Given the description of an element on the screen output the (x, y) to click on. 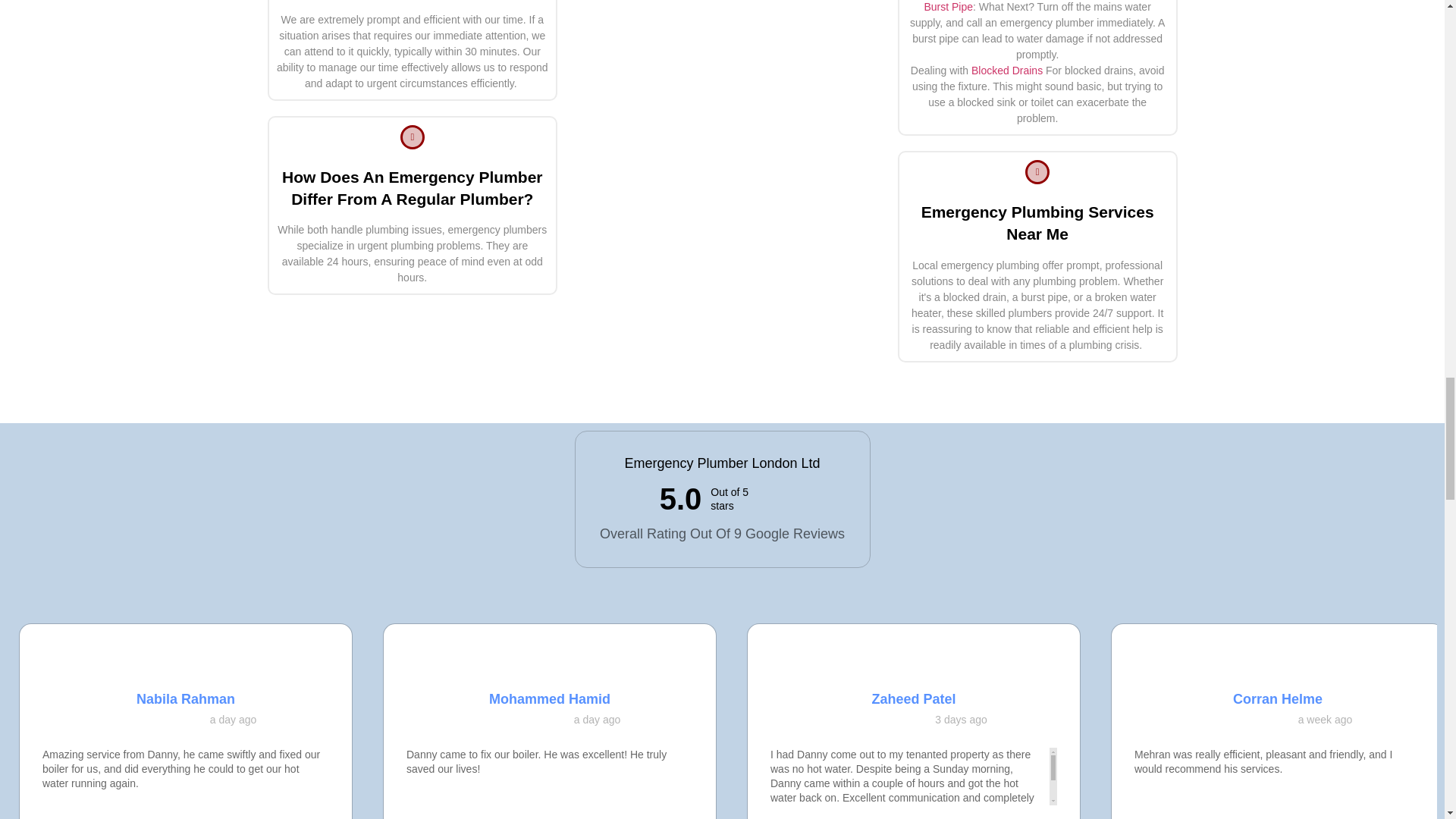
Home-new 3 (122, 719)
Home-new 3 (159, 719)
Home-new 3 (523, 719)
Home-new 15 (550, 664)
Home-new 3 (542, 719)
Home-new 8 (186, 664)
Home-new 3 (178, 719)
Home-new 9 (321, 653)
Home-new 3 (140, 719)
Home-new 3 (197, 719)
Home-new 2 (727, 132)
Home-new 3 (486, 719)
Home-new 9 (685, 653)
Home-new 3 (504, 719)
